Given the description of an element on the screen output the (x, y) to click on. 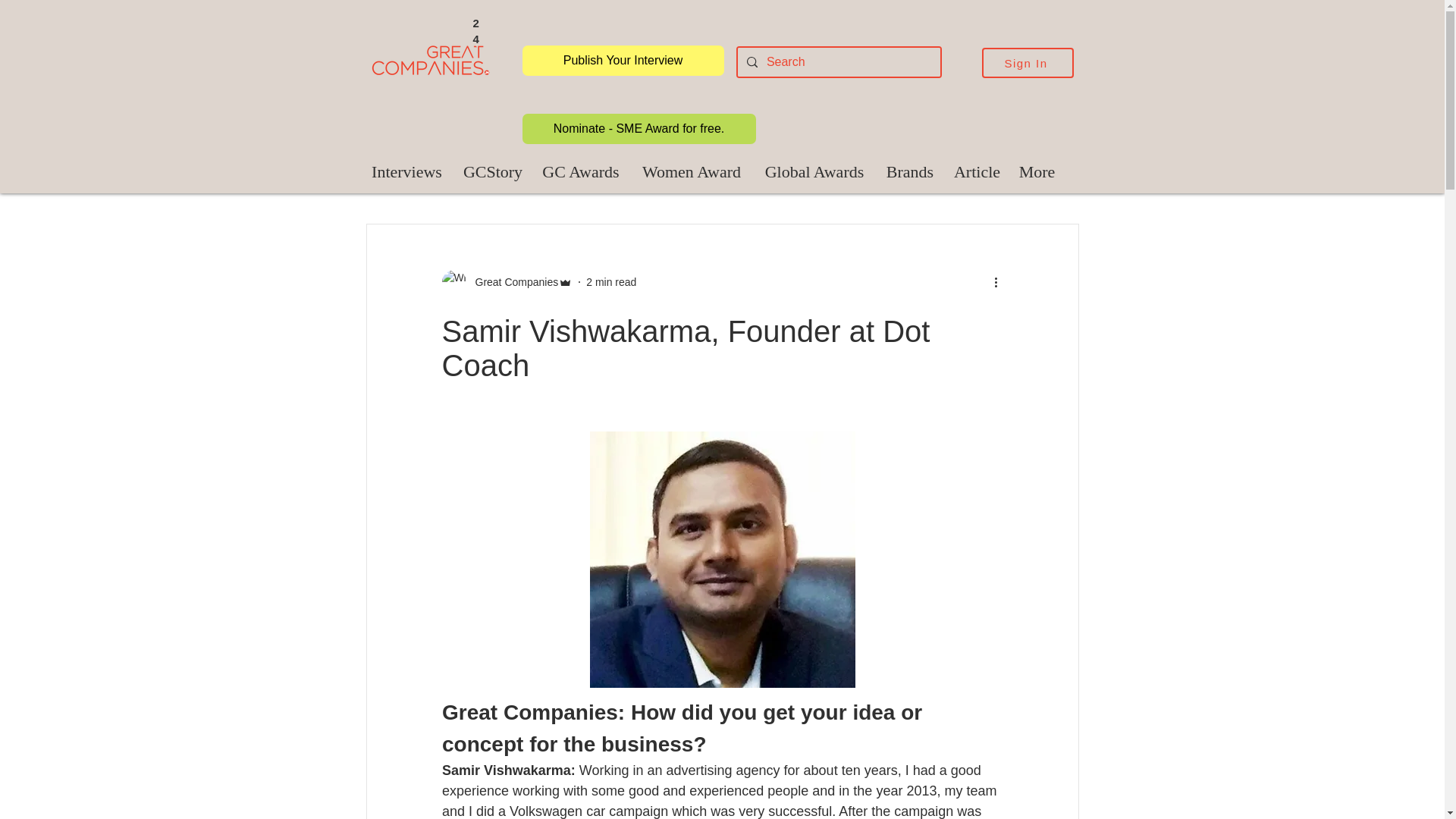
Great Companies (511, 282)
Women Award (690, 171)
Sign In (1027, 62)
Publish Your Interview (622, 60)
Interviews (405, 171)
Article (977, 171)
GCStory (491, 171)
Brands (909, 171)
Global Awards (815, 171)
GC Awards (581, 171)
Nominate - SME Award for free. (638, 128)
2 min read (611, 282)
